Given the description of an element on the screen output the (x, y) to click on. 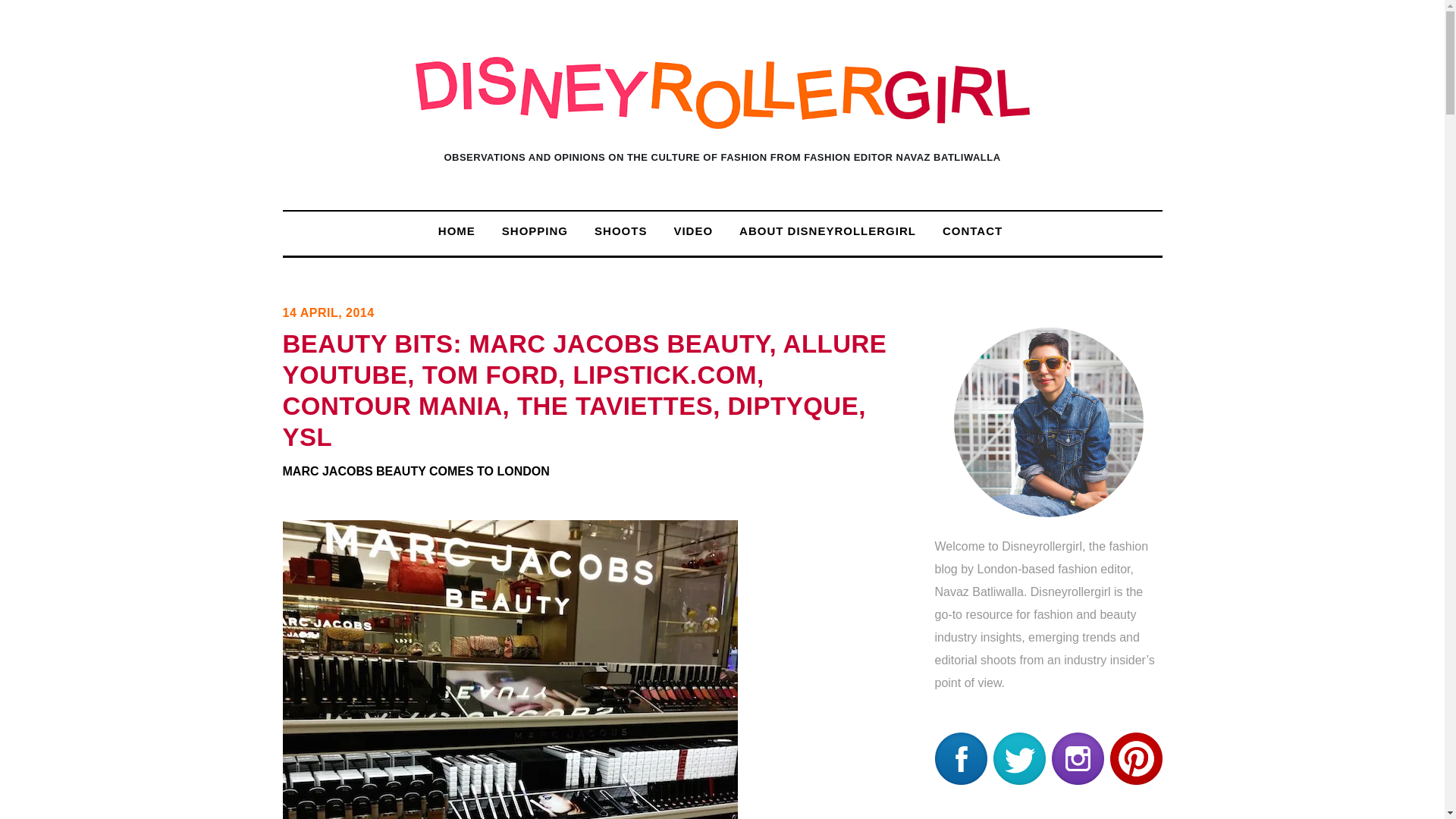
CONTACT (972, 230)
SHOPPING (534, 230)
VIDEO (692, 230)
SHOOTS (620, 230)
twitter (1018, 758)
DisneyRollerGirl (721, 115)
pinterest (1135, 758)
DisneyRollerGirl (721, 92)
